Given the description of an element on the screen output the (x, y) to click on. 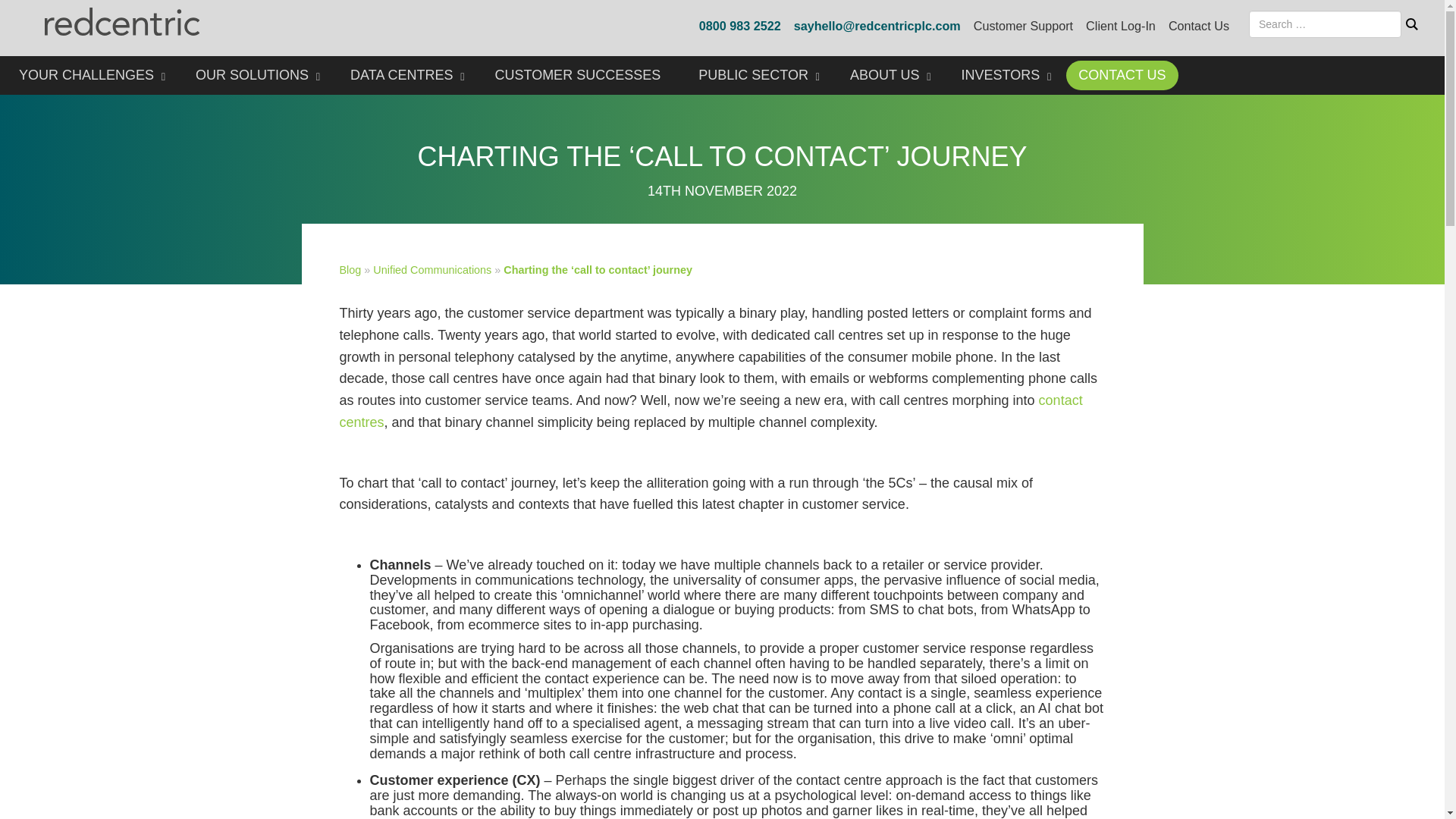
OUR SOLUTIONS (253, 75)
0800 983 2522 (739, 25)
Customer Support (1023, 25)
Search (1412, 24)
Contact Us (1198, 25)
Client Log-In (1121, 25)
